Given the description of an element on the screen output the (x, y) to click on. 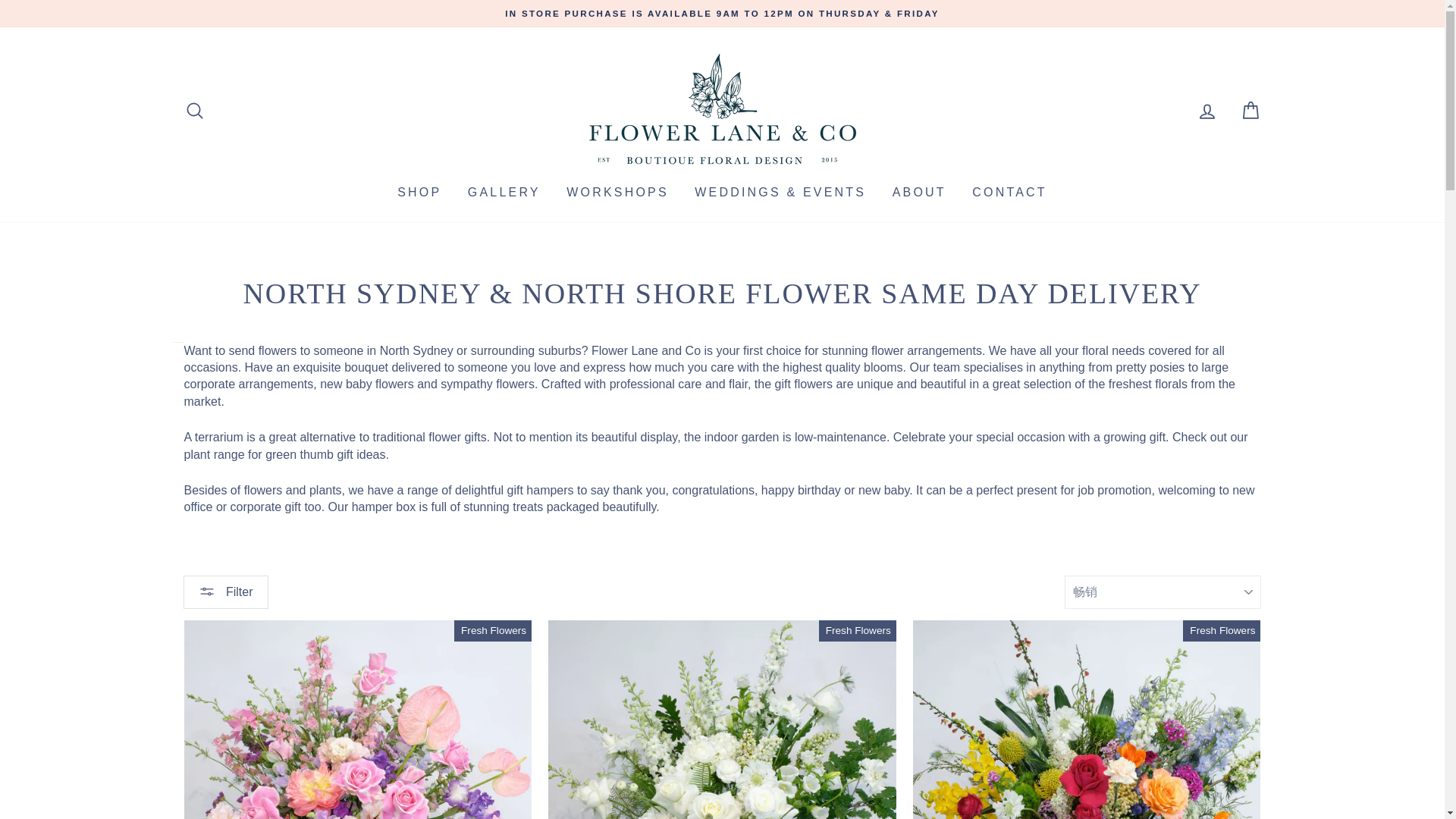
SEARCH (194, 110)
